Given the description of an element on the screen output the (x, y) to click on. 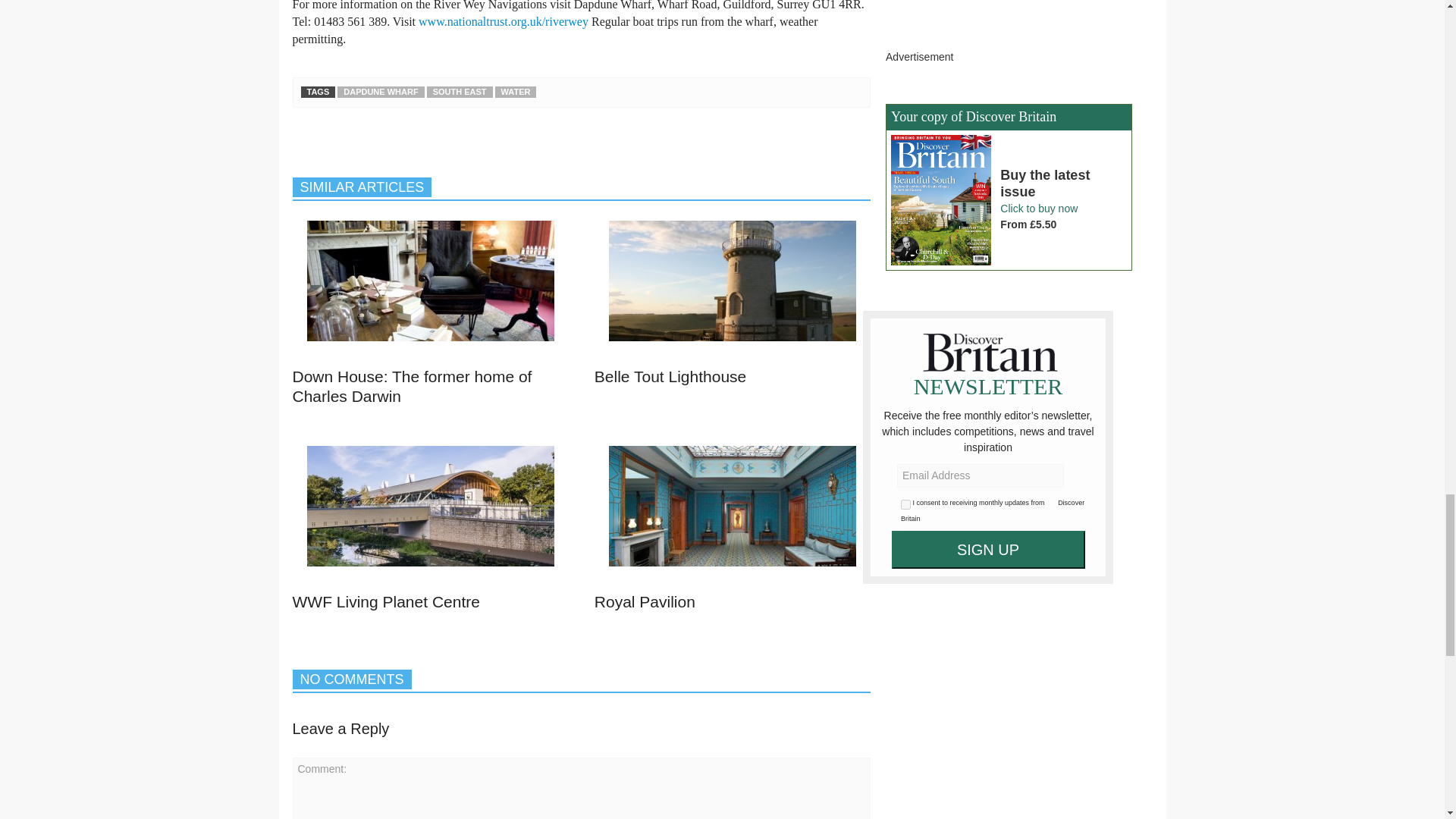
Royal Pavilion (732, 505)
Down House: The former home of Charles Darwin (430, 288)
WWF Living Planet Centre (430, 505)
WWF Living Planet Centre (430, 513)
Down House: The former home of Charles Darwin (430, 280)
Belle Tout Lighthouse (669, 375)
Royal Pavilion (644, 601)
Belle Tout Lighthouse (732, 288)
Belle Tout Lighthouse (732, 280)
Royal Pavilion (732, 513)
WWF Living Planet Centre (386, 601)
Down House: The former home of Charles Darwin (412, 385)
